Given the description of an element on the screen output the (x, y) to click on. 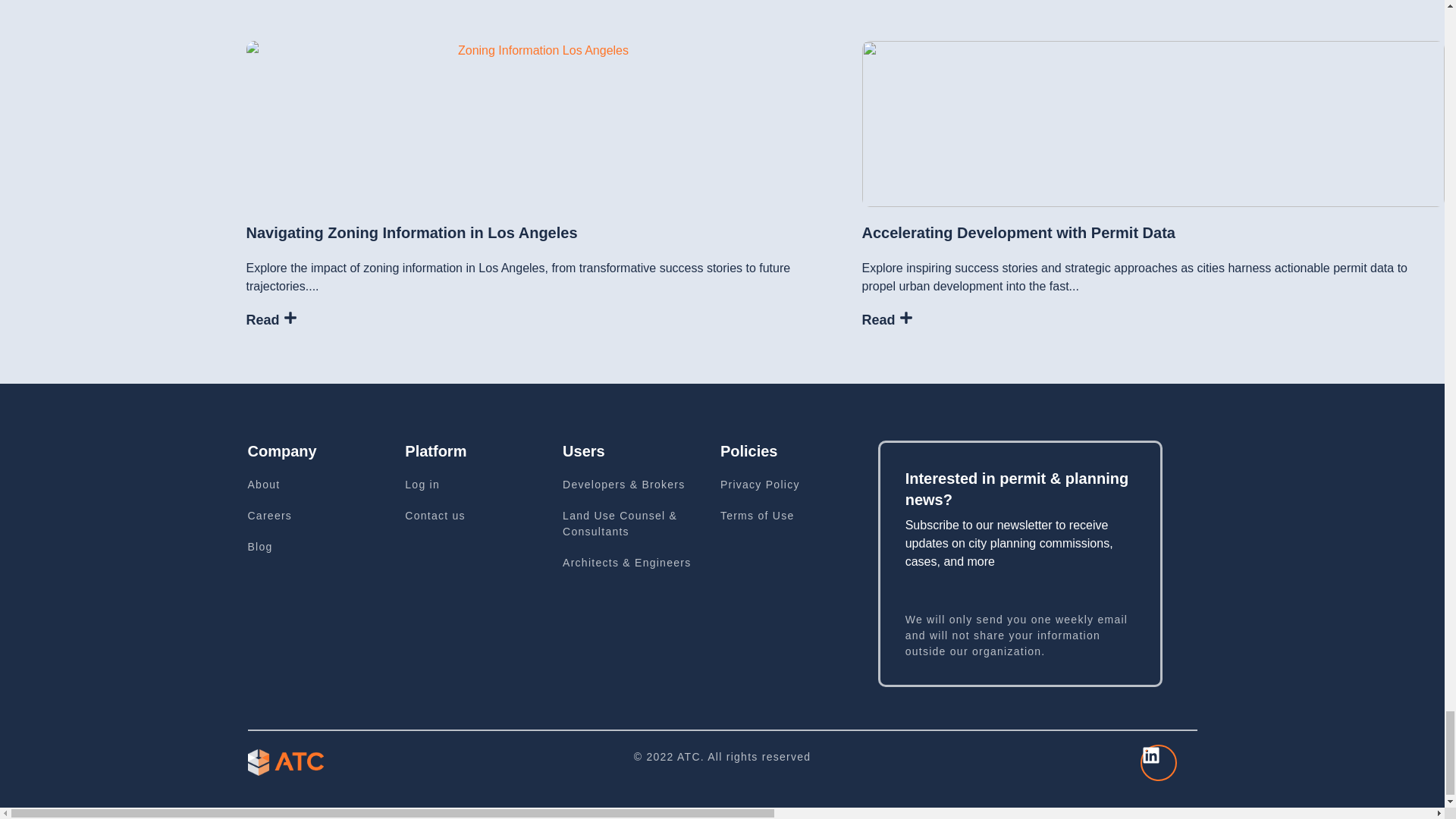
Navigating Zoning Information in Los Angeles (411, 232)
Read (271, 320)
